Given the description of an element on the screen output the (x, y) to click on. 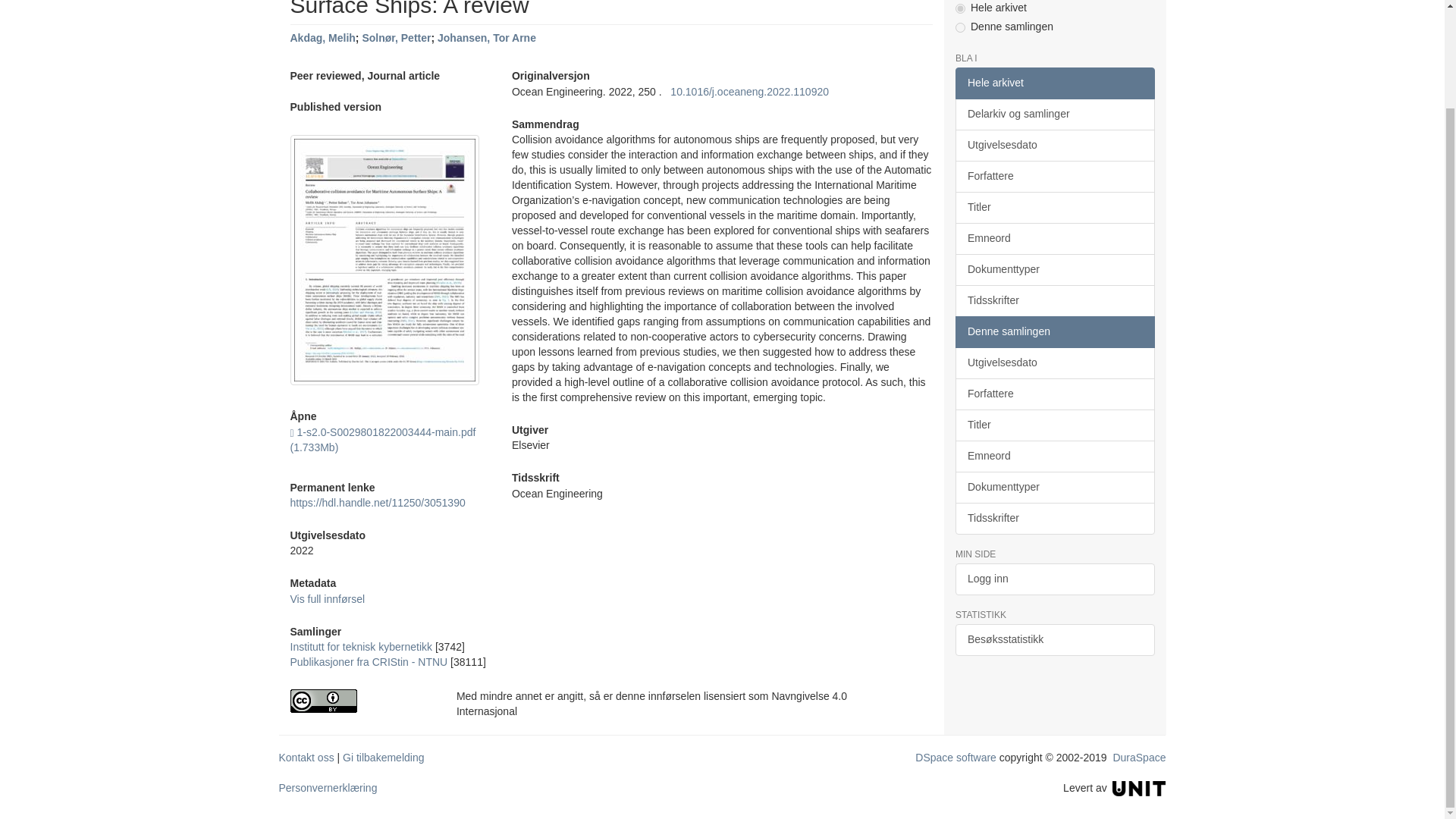
Institutt for teknisk kybernetikk (360, 646)
Navngivelse 4.0 Internasjonal (360, 700)
Publikasjoner fra CRIStin - NTNU (367, 662)
Akdag, Melih (322, 37)
Delarkiv og samlinger (1054, 114)
Hele arkivet (1054, 83)
Johansen, Tor Arne (486, 37)
Utgivelsesdato (1054, 145)
Unit (1139, 787)
